Given the description of an element on the screen output the (x, y) to click on. 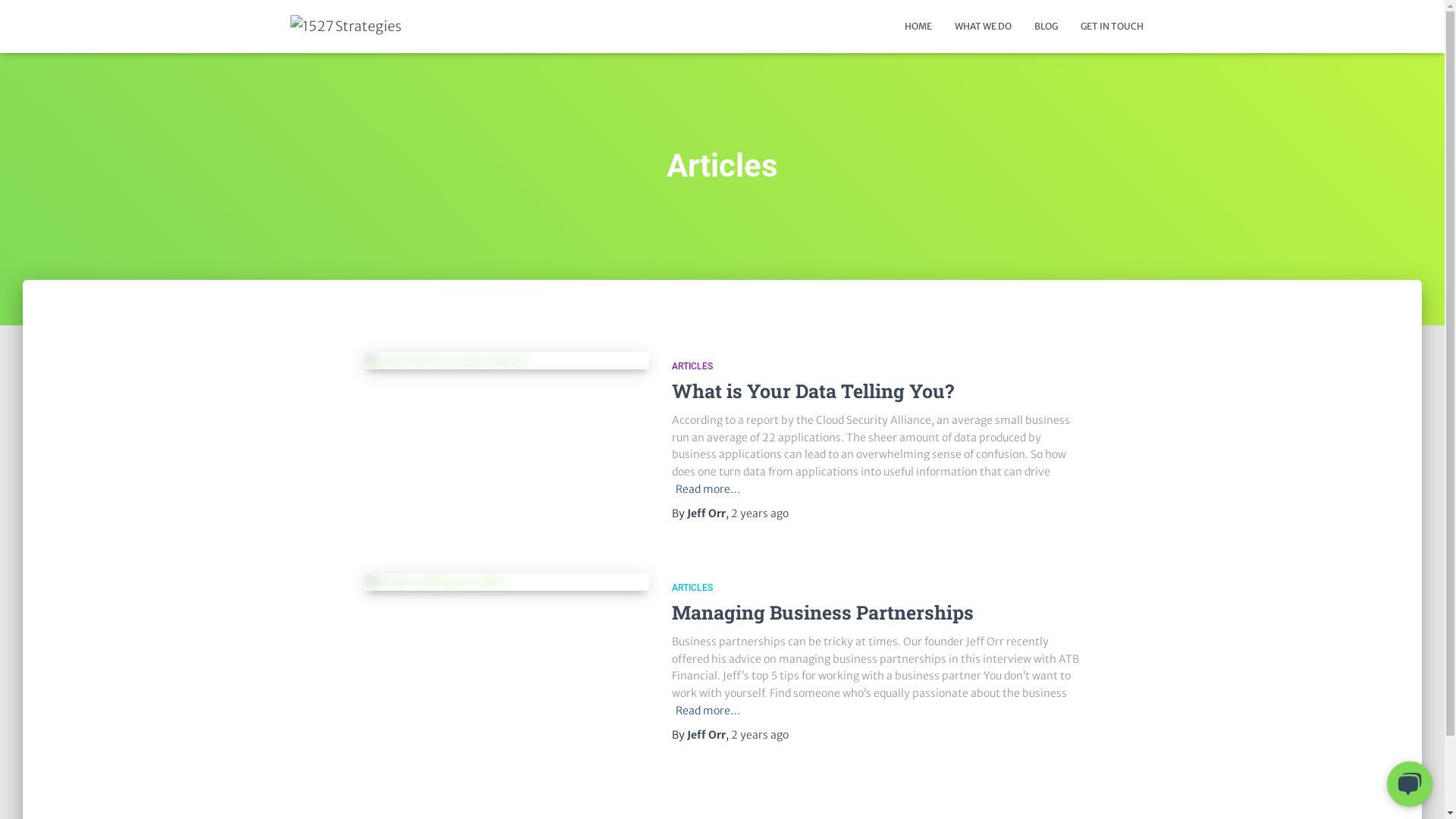
GET IN TOUCH Element type: text (1111, 26)
ARTICLES Element type: text (691, 365)
2 years ago Element type: text (759, 734)
Jeff Orr Element type: text (706, 734)
What is Your Data Telling You? Element type: hover (506, 360)
1527 Strategies Element type: hover (346, 26)
WHAT WE DO Element type: text (982, 26)
HOME Element type: text (918, 26)
BLOG Element type: text (1045, 26)
Jeff Orr Element type: text (706, 513)
What is Your Data Telling You? Element type: text (812, 390)
2 years ago Element type: text (759, 513)
ARTICLES Element type: text (691, 587)
Managing Business Partnerships Element type: text (822, 611)
Managing Business Partnerships Element type: hover (506, 581)
